Given the description of an element on the screen output the (x, y) to click on. 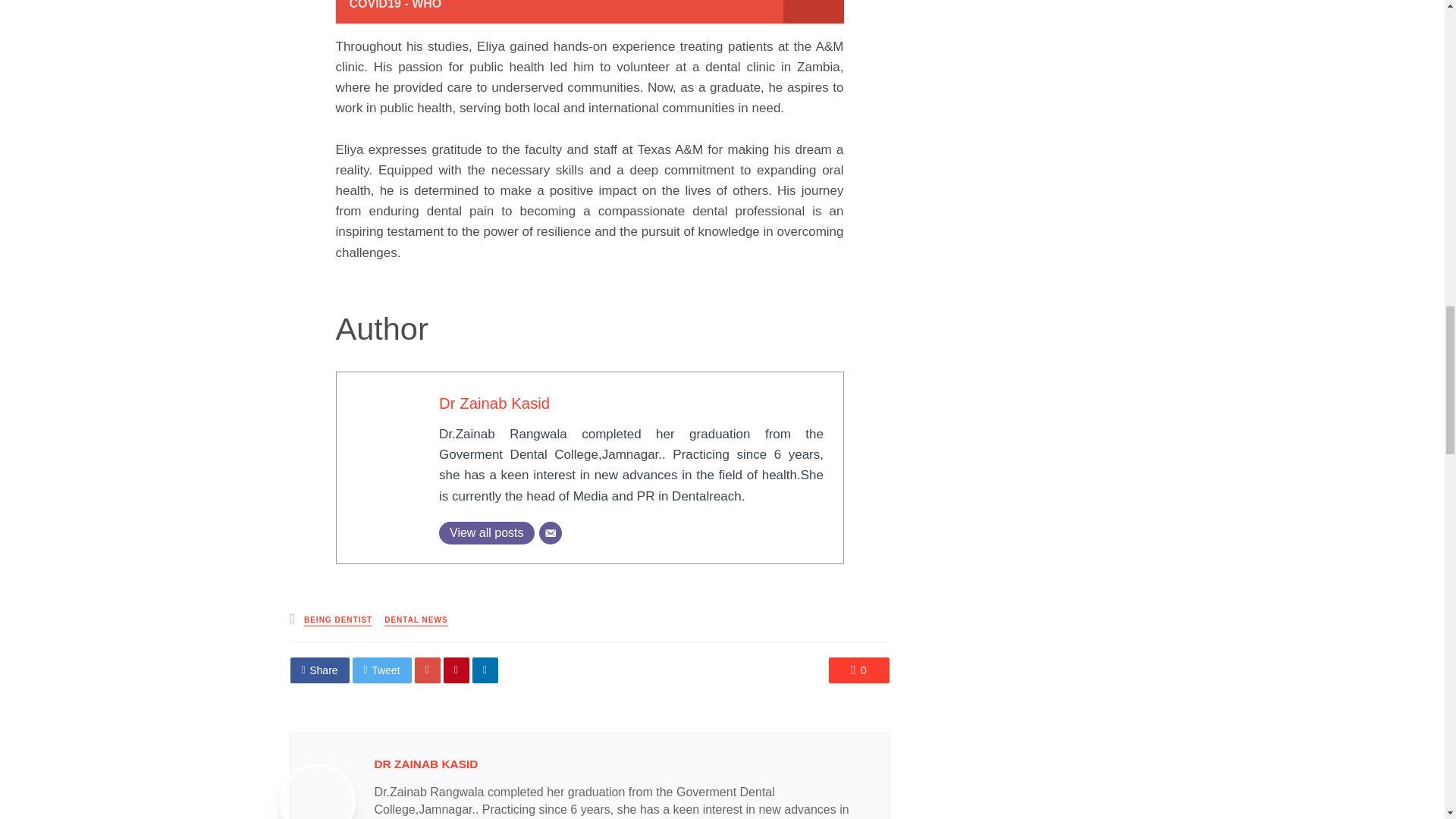
Share on Twitter (382, 670)
Share on Facebook (319, 670)
View all posts (486, 532)
Dr Zainab Kasid (494, 402)
